Given the description of an element on the screen output the (x, y) to click on. 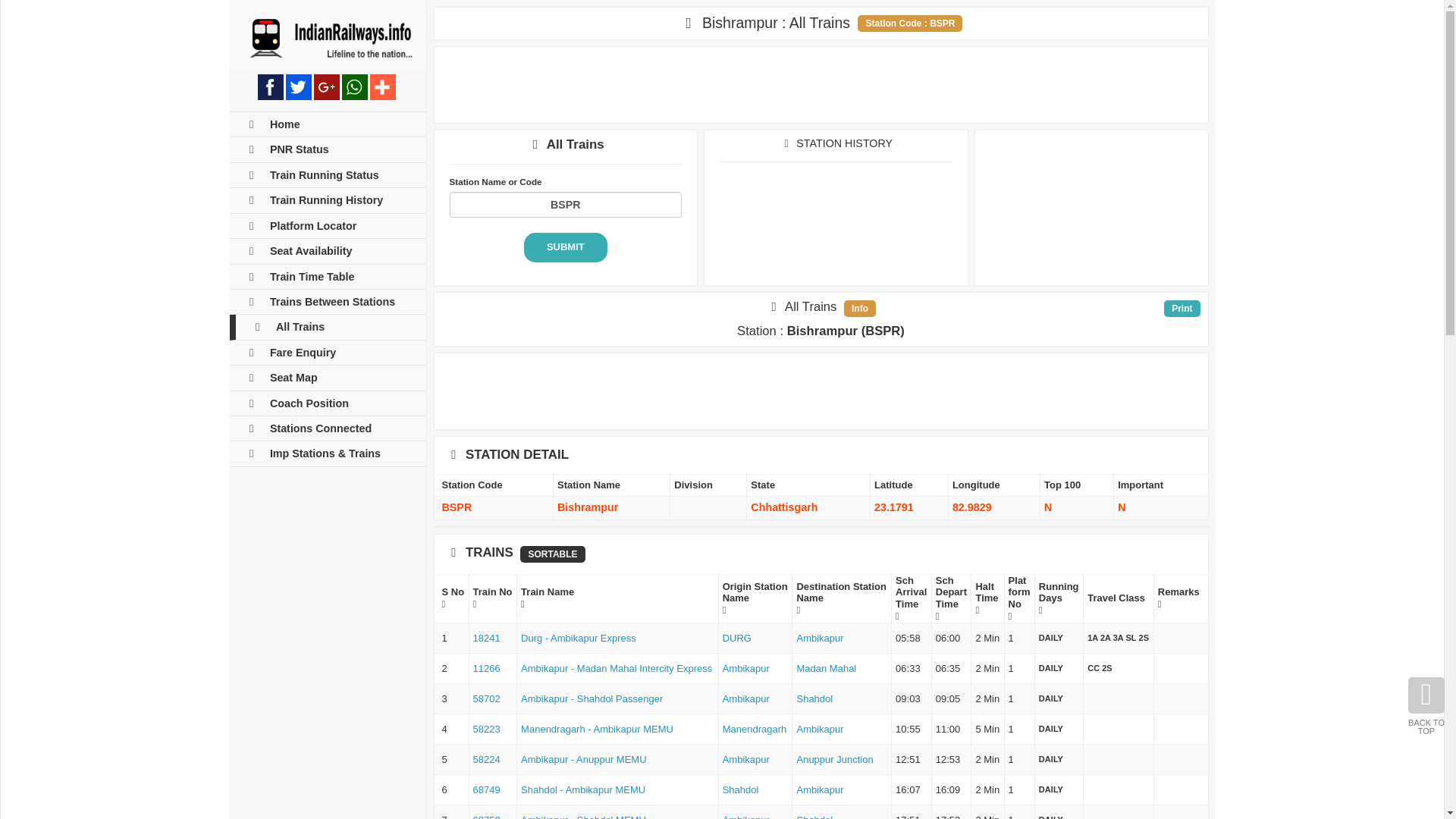
Coach Position (326, 403)
Manendragarh (754, 728)
BSPR (564, 204)
Check Time Table of Train No Ambikapur - Shahdol Passenger (591, 698)
Ambikapur (819, 637)
Stations Connected (326, 428)
Madan Mahal (826, 668)
Check Time Table of 58702 (486, 698)
Fare Enquiry (326, 352)
Check Time Table of 11266 (486, 668)
68749 (486, 789)
Share on Addthis (382, 86)
Check Time Table of 58223 (486, 728)
Check All Trains of Ambikapur (746, 698)
Train Running Status (326, 175)
